Given the description of an element on the screen output the (x, y) to click on. 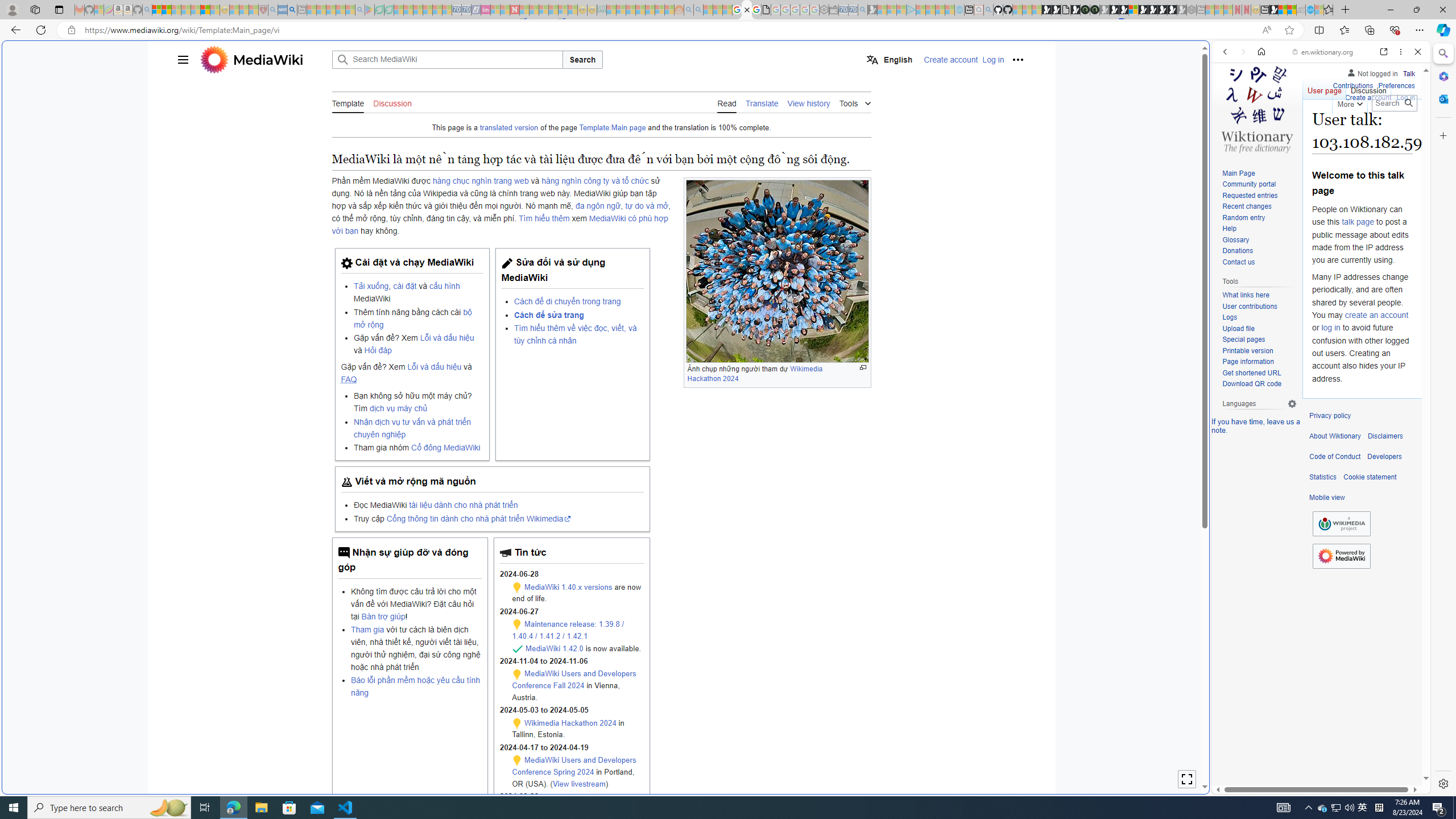
Logs (1229, 317)
Frequently visited (965, 151)
Cookie statement (1369, 477)
Contact us (1259, 262)
Privacy policy (1329, 415)
Maintenance release: 1.39.8 / 1.40.4 / 1.41.2 / 1.42.1 (568, 629)
